Given the description of an element on the screen output the (x, y) to click on. 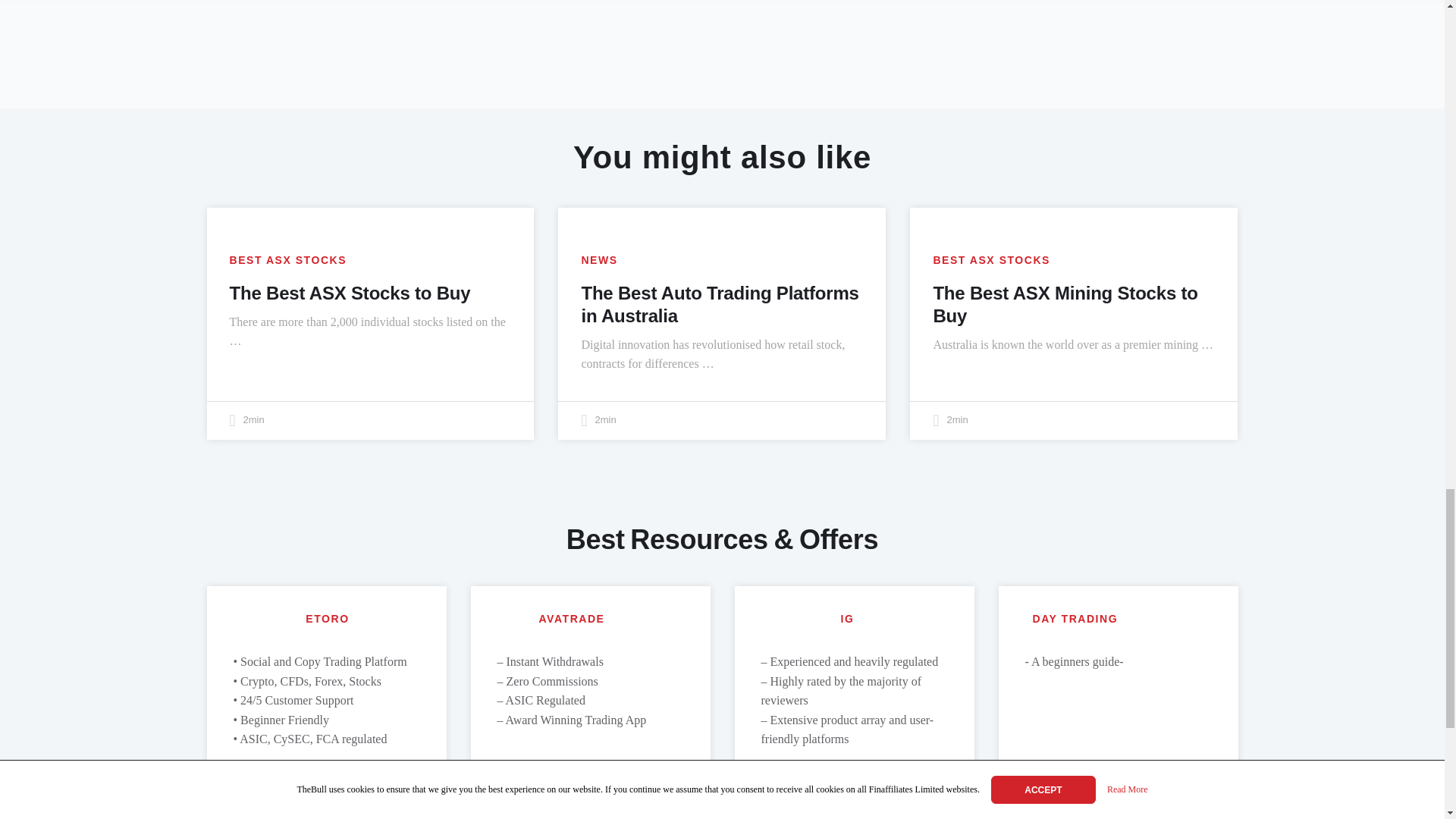
NEWS (598, 259)
The Best ASX Stocks to Buy (349, 292)
BEST ASX STOCKS (991, 259)
The Best ASX Mining Stocks to Buy (1064, 303)
BEST ASX STOCKS (287, 259)
The Best Auto Trading Platforms in Australia (719, 303)
